Given the description of an element on the screen output the (x, y) to click on. 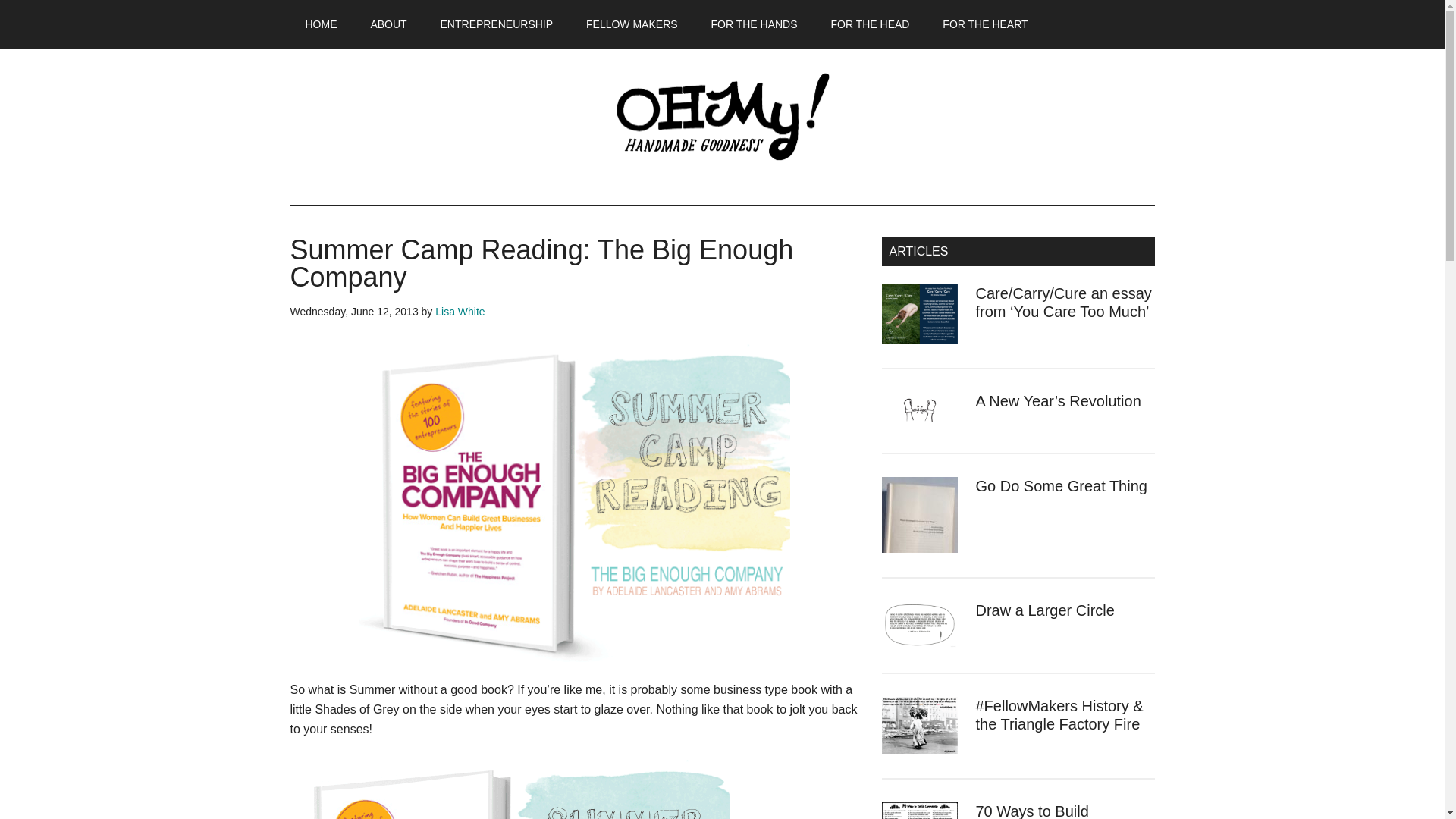
Lisa White (459, 311)
FOR THE HANDS (753, 24)
FOR THE HEART (984, 24)
FELLOW MAKERS (631, 24)
HOME (320, 24)
ABOUT (388, 24)
FOR THE HEAD (869, 24)
ENTREPRENEURSHIP (497, 24)
